Given the description of an element on the screen output the (x, y) to click on. 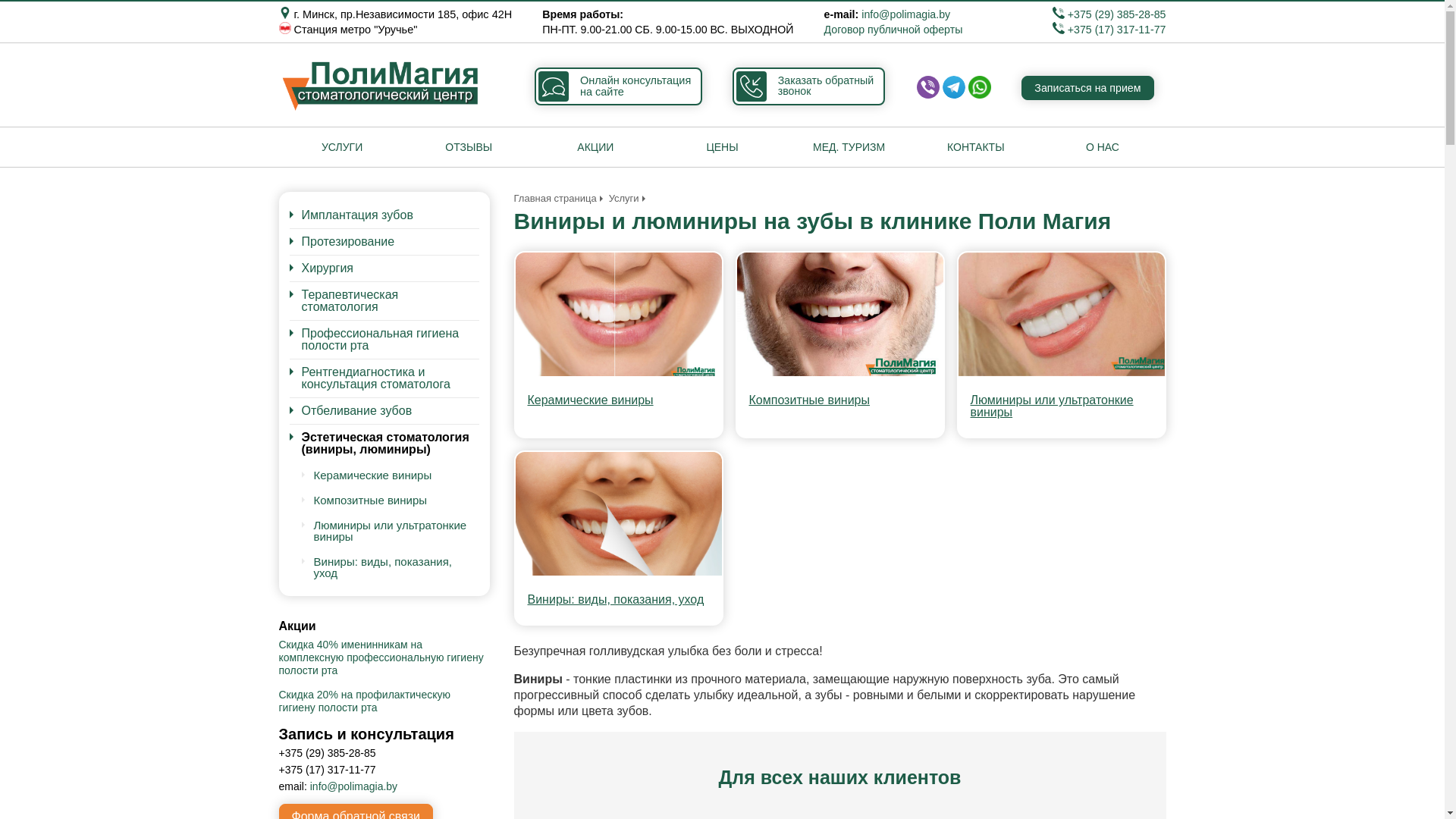
+375 (17) 317-11-77 Element type: text (1109, 29)
info@polimagia.by Element type: text (353, 786)
info@polimagia.by Element type: text (905, 14)
+375 (29) 385-28-85 Element type: text (1109, 14)
